Given the description of an element on the screen output the (x, y) to click on. 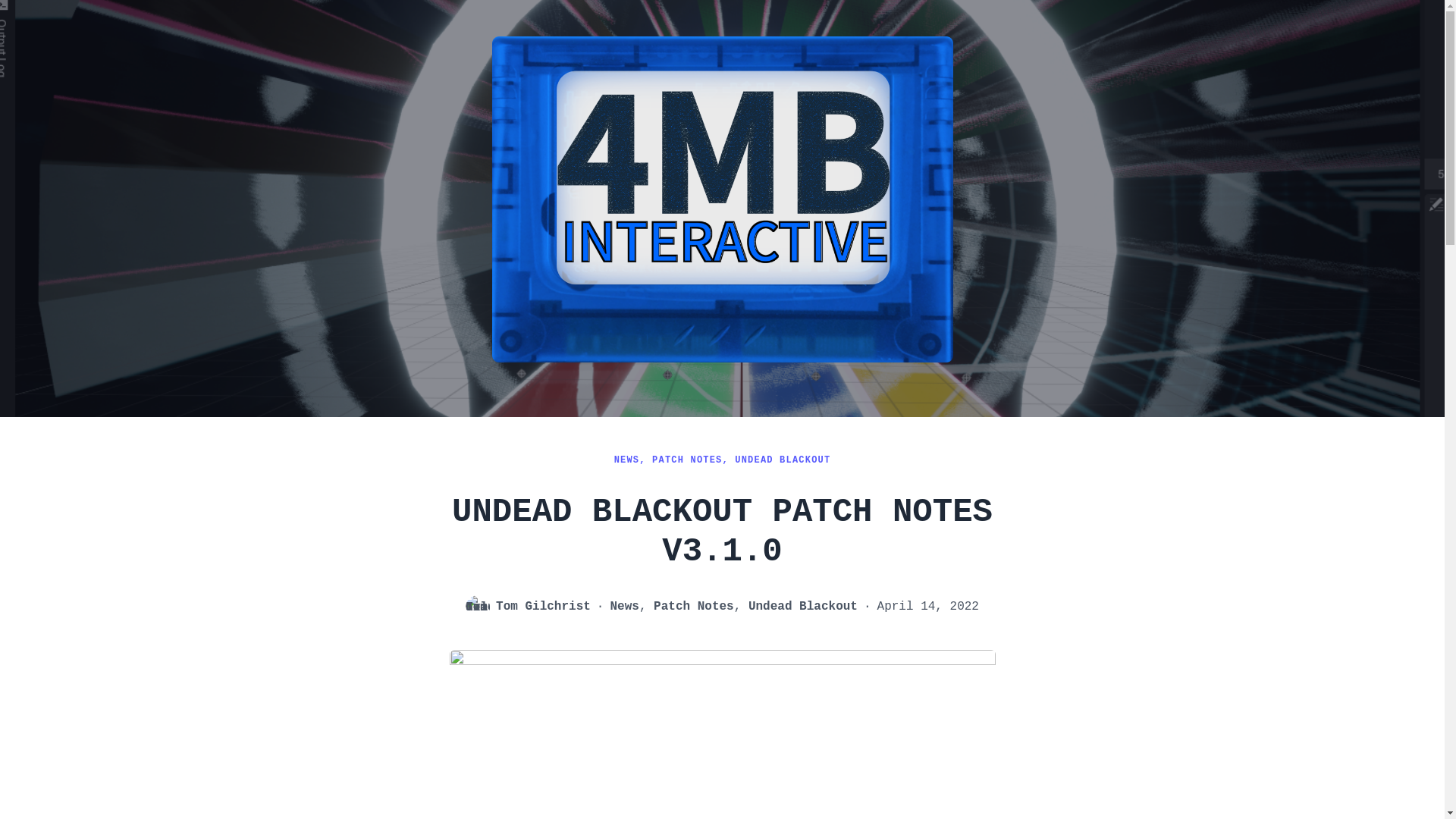
PATCH NOTES (687, 460)
Undead Blackout (802, 607)
Tom Gilchrist (543, 606)
NEWS (627, 460)
News (624, 607)
UNDEAD BLACKOUT (782, 460)
Patch Notes (693, 607)
